Given the description of an element on the screen output the (x, y) to click on. 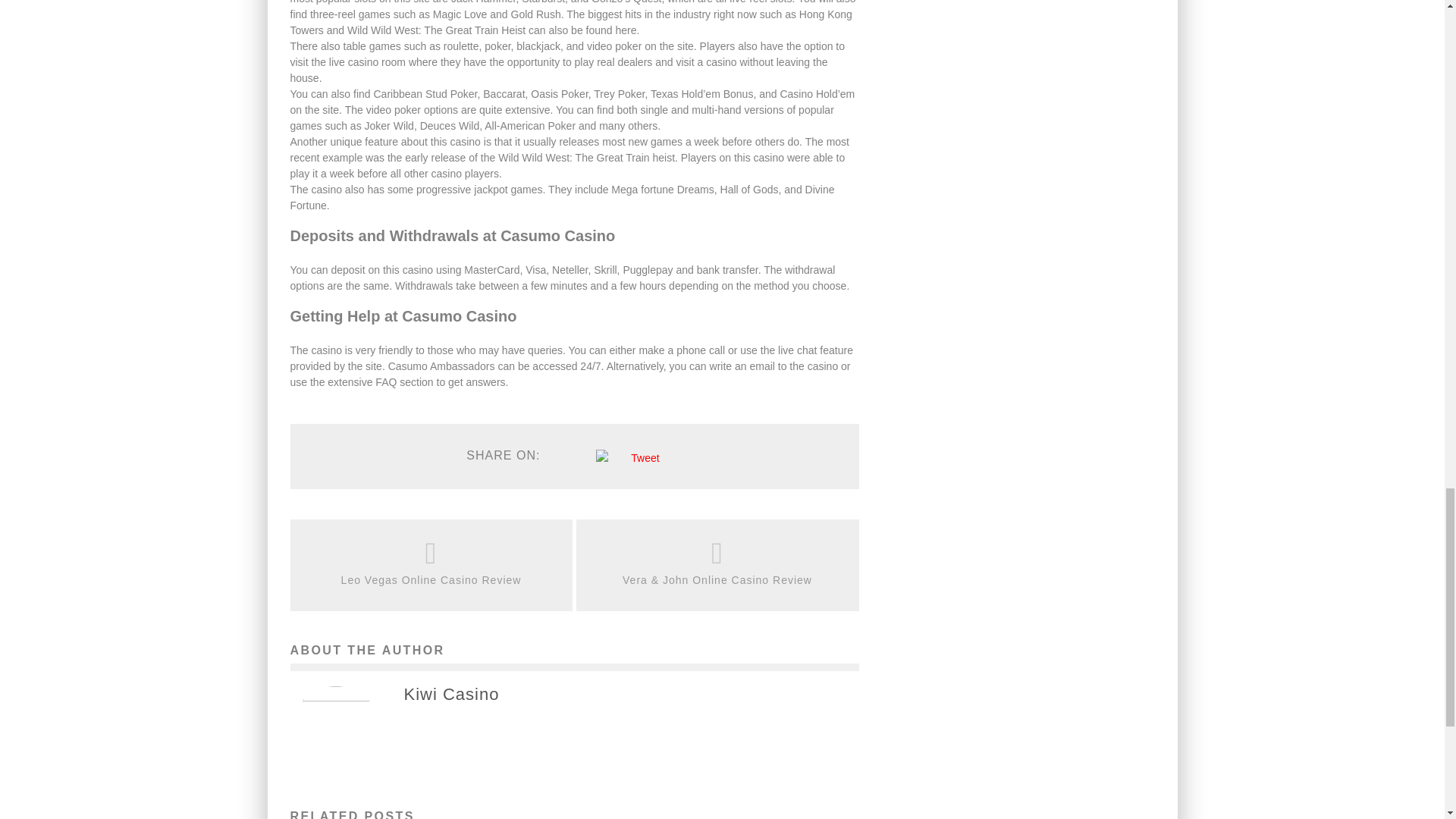
Leo Vegas Online Casino Review (430, 580)
Kiwi Casino (451, 694)
Tweet (644, 458)
